Given the description of an element on the screen output the (x, y) to click on. 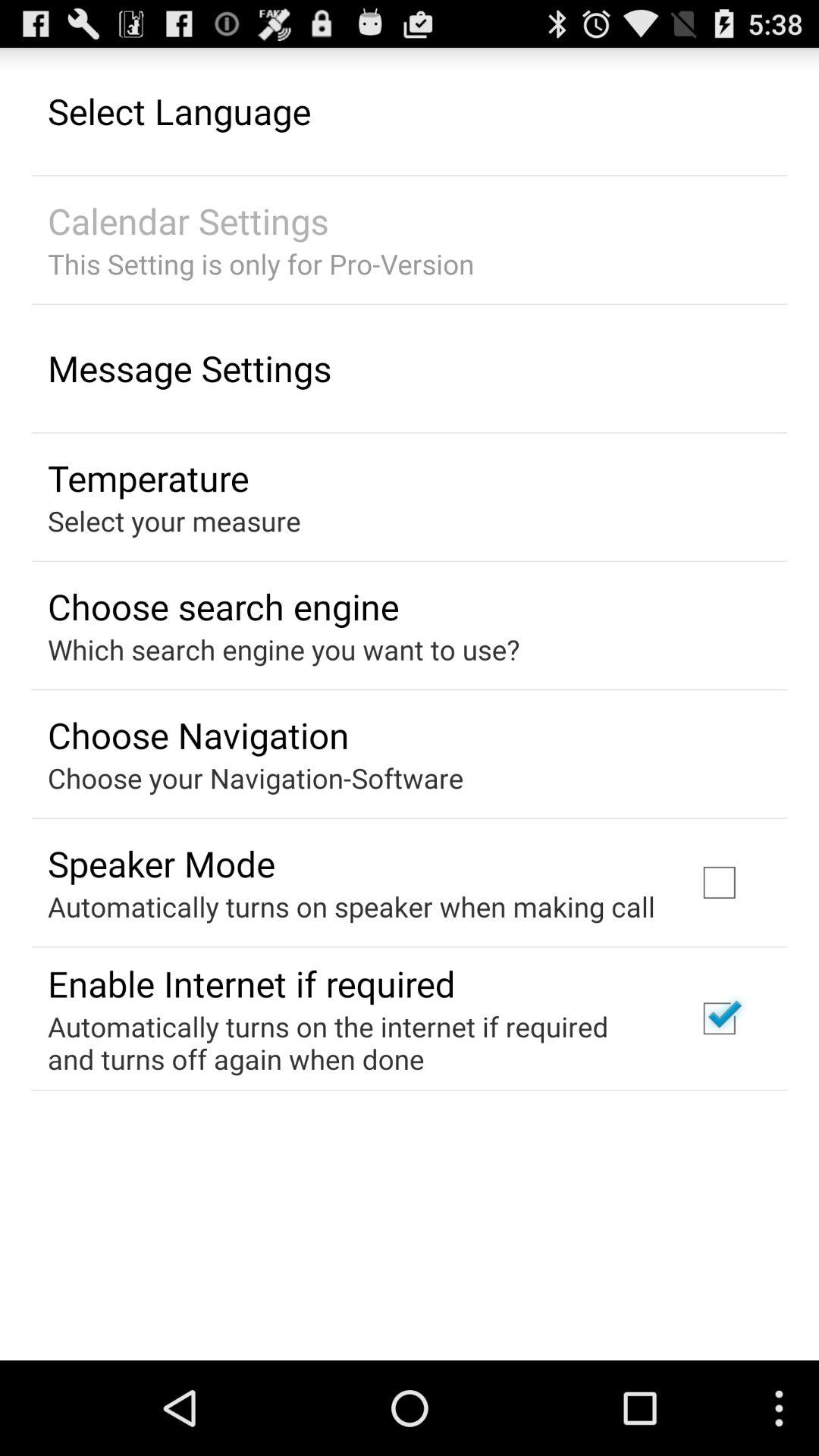
flip until the this setting is icon (260, 263)
